Given the description of an element on the screen output the (x, y) to click on. 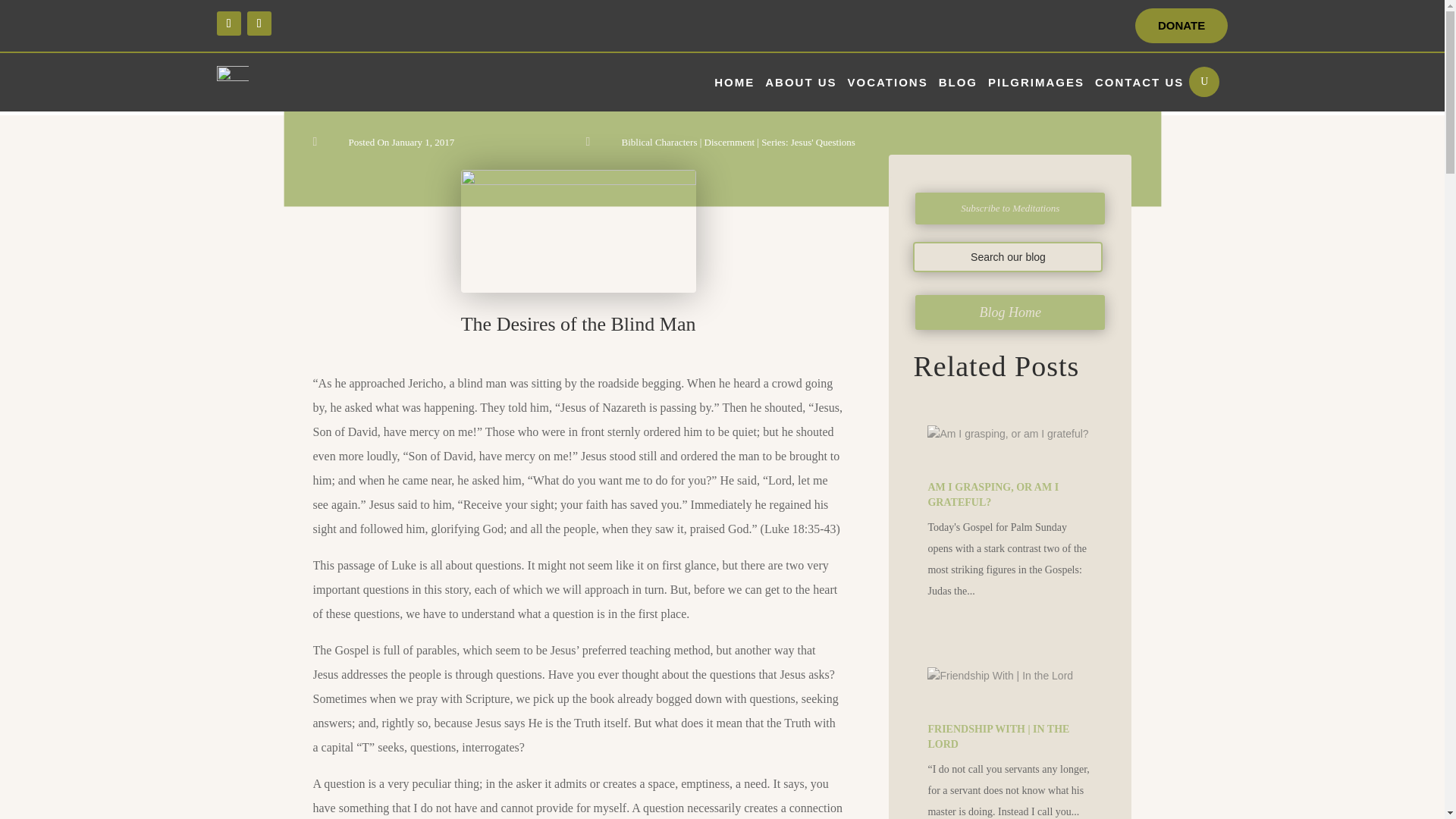
Blog Home (1010, 311)
Biblical Characters (659, 142)
Discernment (729, 142)
PILGRIMAGES (1036, 82)
AM I GRASPING, OR AM I GRATEFUL? (992, 494)
ABOUT US (800, 82)
Follow on Facebook (228, 23)
Follow on Youtube (258, 23)
VOCATIONS (887, 82)
what (578, 230)
Subscribe to Meditations (1010, 208)
Search (25, 13)
CONTACT US (1138, 82)
DONATE (1181, 25)
Series: Jesus' Questions (808, 142)
